Given the description of an element on the screen output the (x, y) to click on. 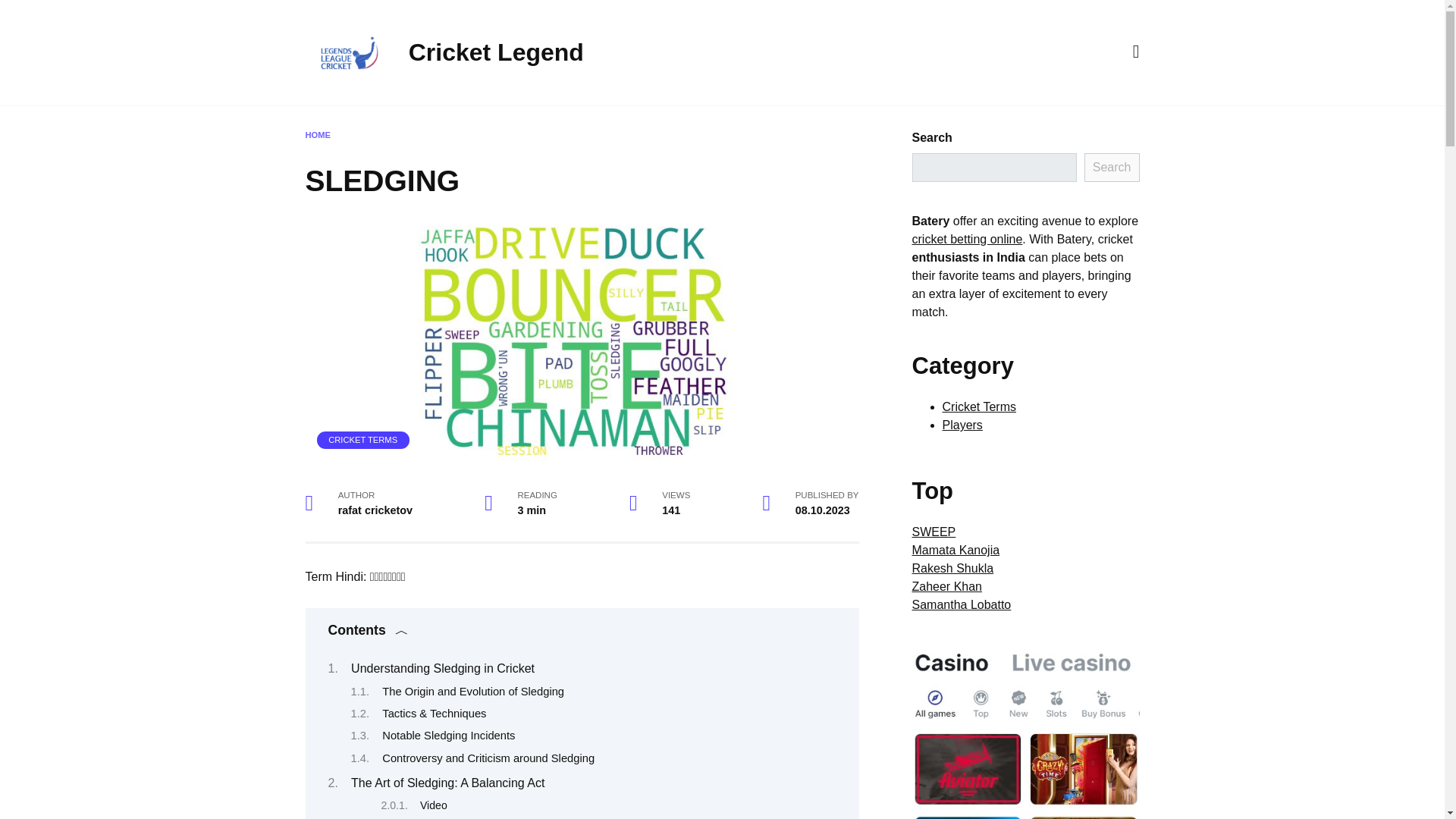
Notable Sledging Incidents (448, 735)
Understanding Sledging in Cricket (442, 667)
Rakesh Shukla (951, 567)
Search (1112, 167)
Video (433, 805)
Cricket Terms (979, 406)
The Origin and Evolution of Sledging (472, 691)
SWEEP (933, 531)
cricket betting online (966, 238)
Samantha Lobatto (960, 604)
Players (961, 424)
HOME (317, 134)
Controversy and Criticism around Sledging (487, 758)
Zaheer Khan (946, 585)
Mamata Kanojia (954, 549)
